Given the description of an element on the screen output the (x, y) to click on. 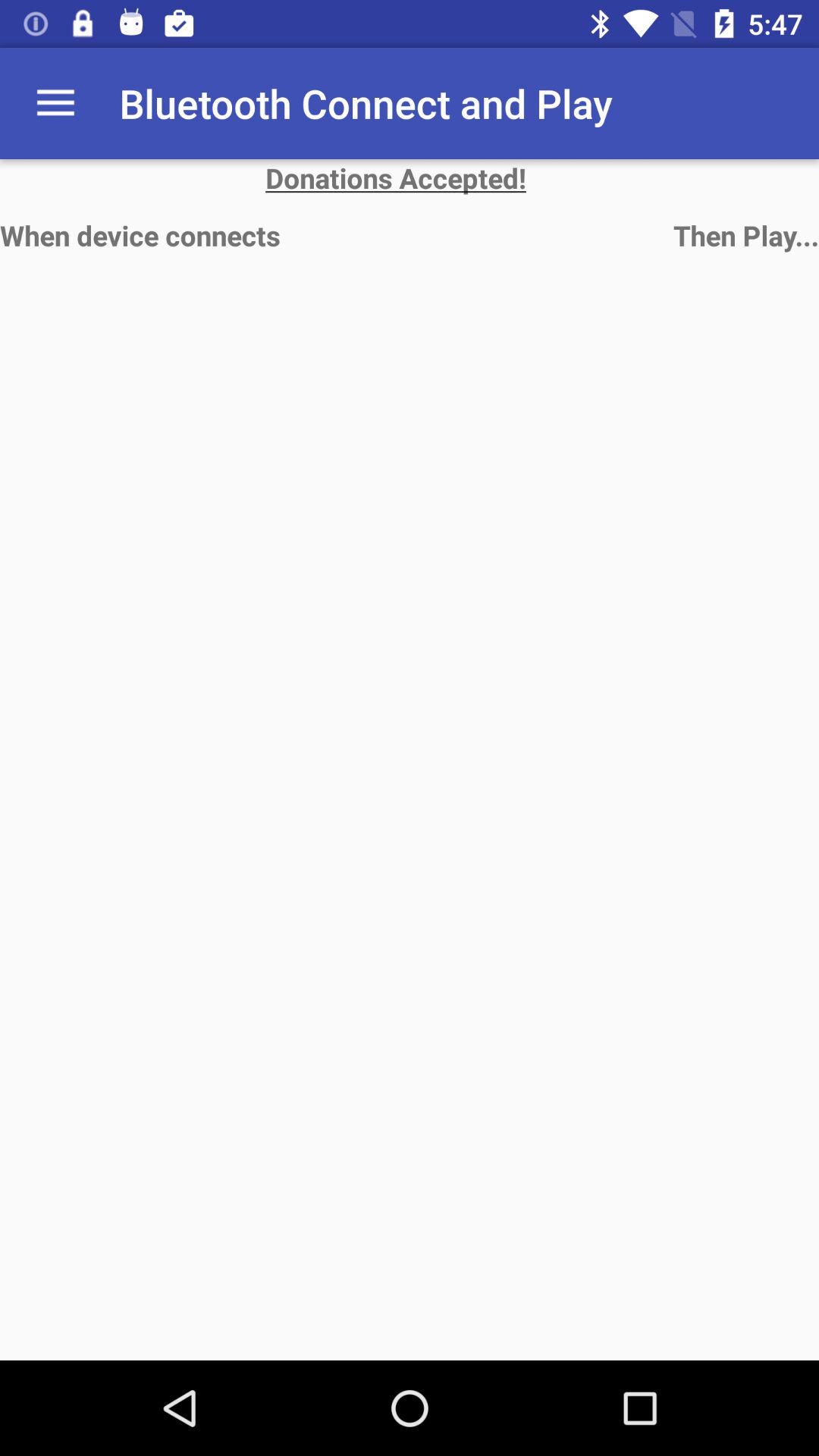
click the item above the when device connects (55, 103)
